Given the description of an element on the screen output the (x, y) to click on. 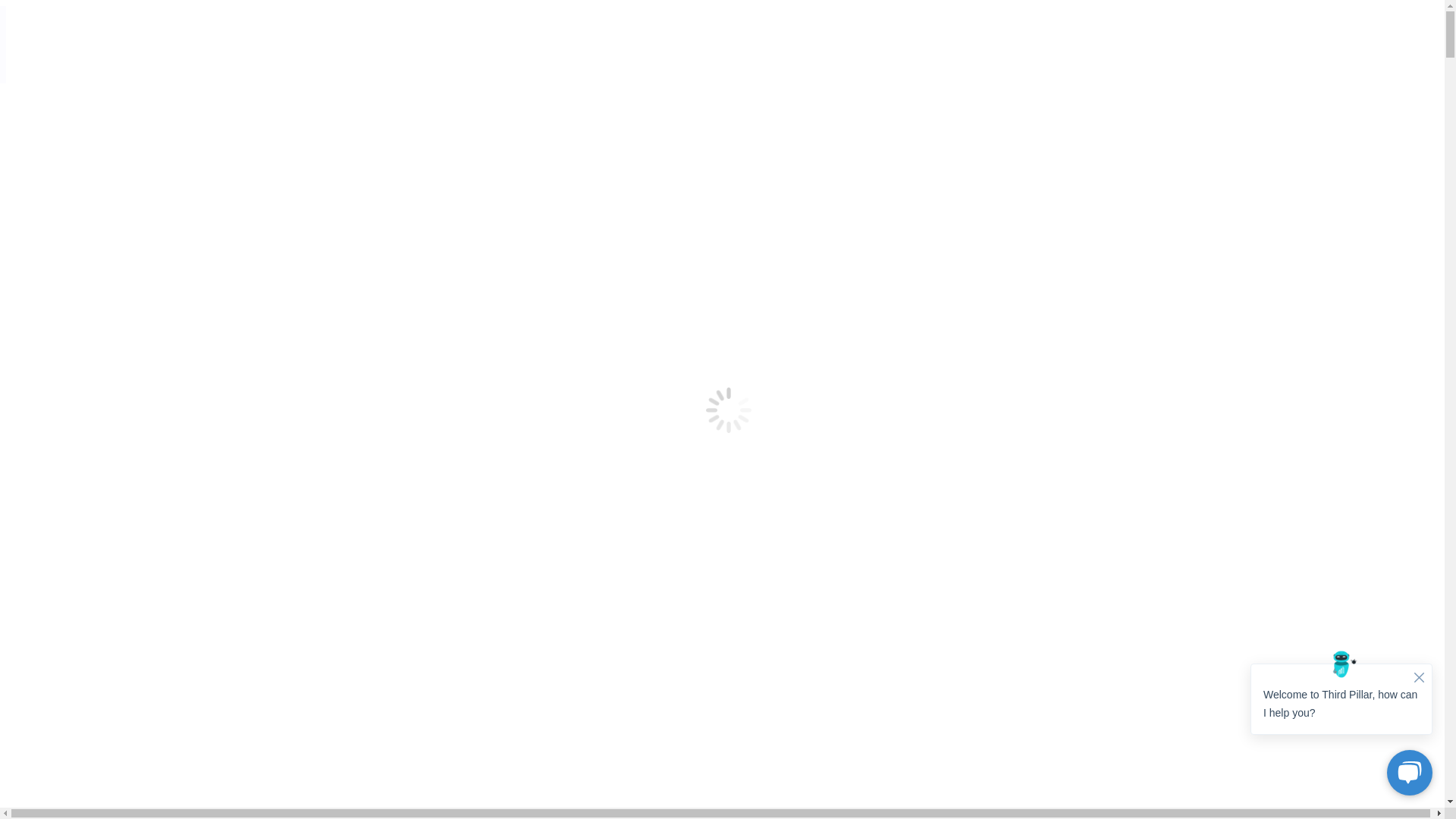
HOME Element type: text (839, 44)
Leave a comment Element type: text (231, 744)
Case Study: How CRM Helped Change the Game for Philips Element type: text (197, 714)
By Patrick Element type: text (57, 744)
February 1, 2022 Element type: text (128, 350)
Blog Element type: text (18, 744)
RESOURCES Element type: text (1089, 44)
ABOUT Element type: text (1208, 44)
Blog Element type: text (18, 350)
By Patrick Element type: text (57, 350)
September 3, 2021 Element type: text (134, 744)
Leave a comment Element type: text (221, 350)
SOLUTIONS Element type: text (956, 44)
49 Element type: hover (252, 549)
CONTACT US Element type: text (1354, 44)
